Given the description of an element on the screen output the (x, y) to click on. 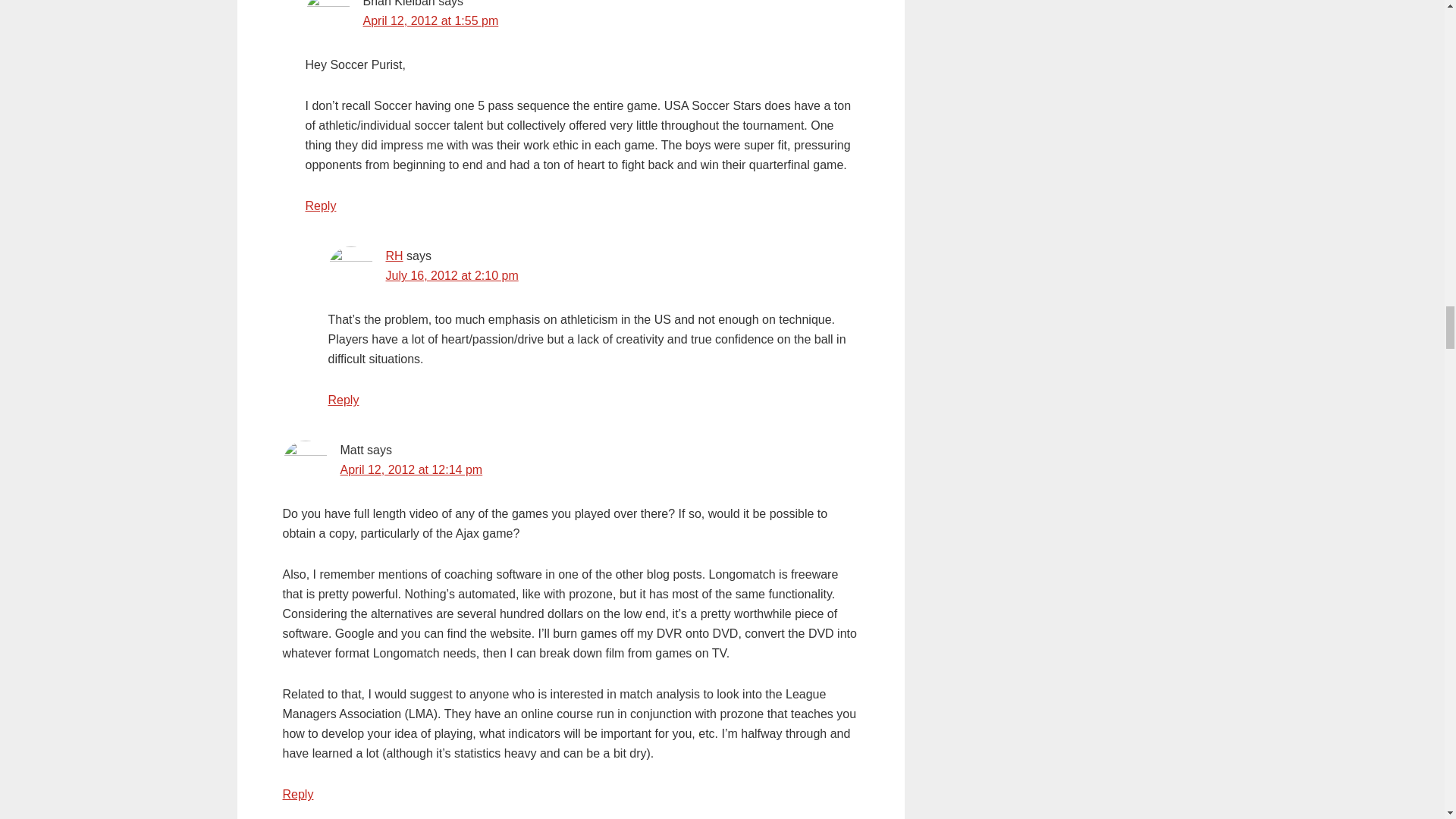
Reply (342, 399)
April 12, 2012 at 12:14 pm (410, 469)
RH (394, 255)
Reply (320, 205)
April 12, 2012 at 1:55 pm (429, 20)
July 16, 2012 at 2:10 pm (451, 275)
Reply (297, 793)
